Given the description of an element on the screen output the (x, y) to click on. 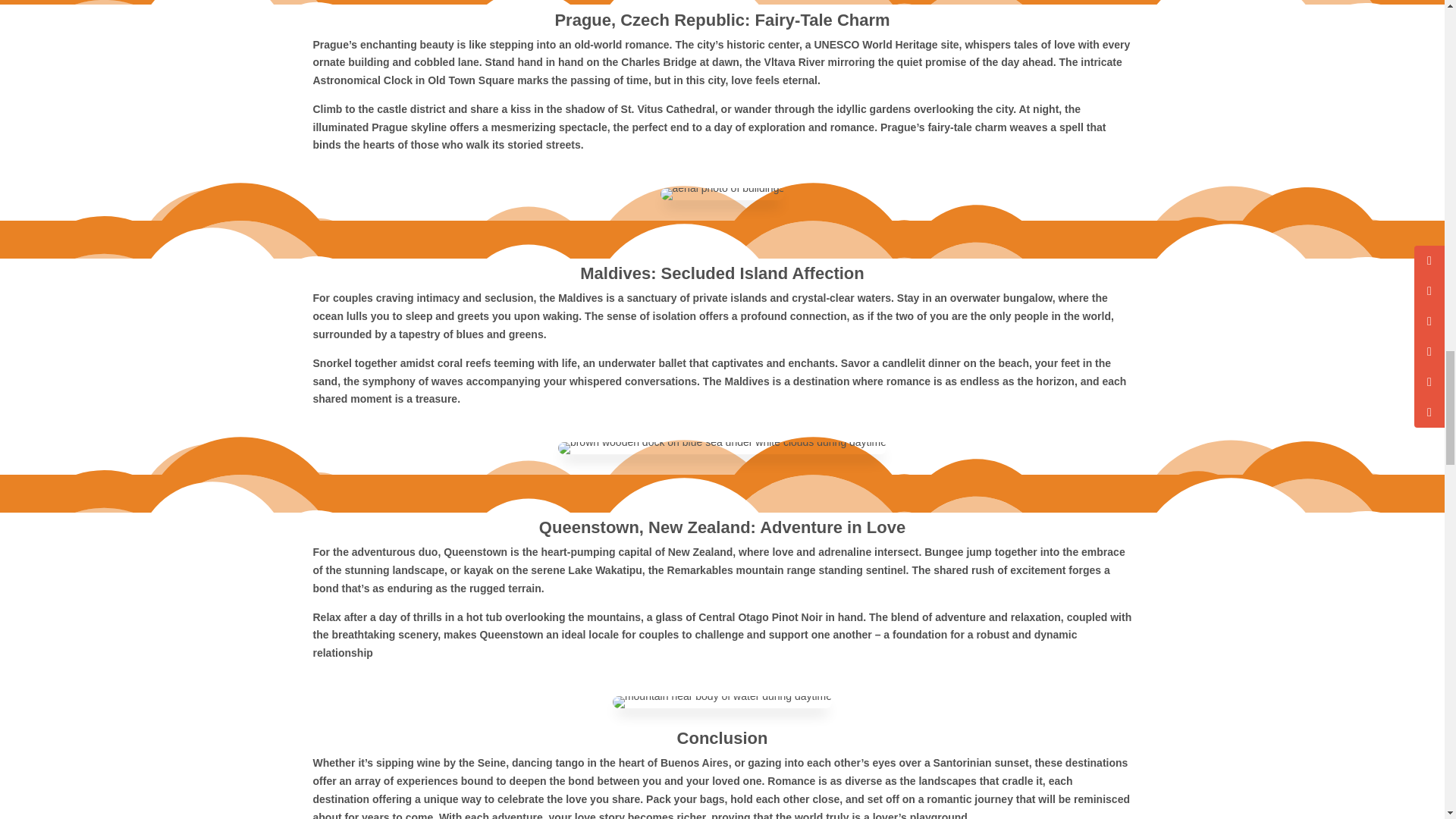
Yellowstone National Park (722, 193)
Yellowstone National Park (721, 448)
Patagonia (721, 702)
